Given the description of an element on the screen output the (x, y) to click on. 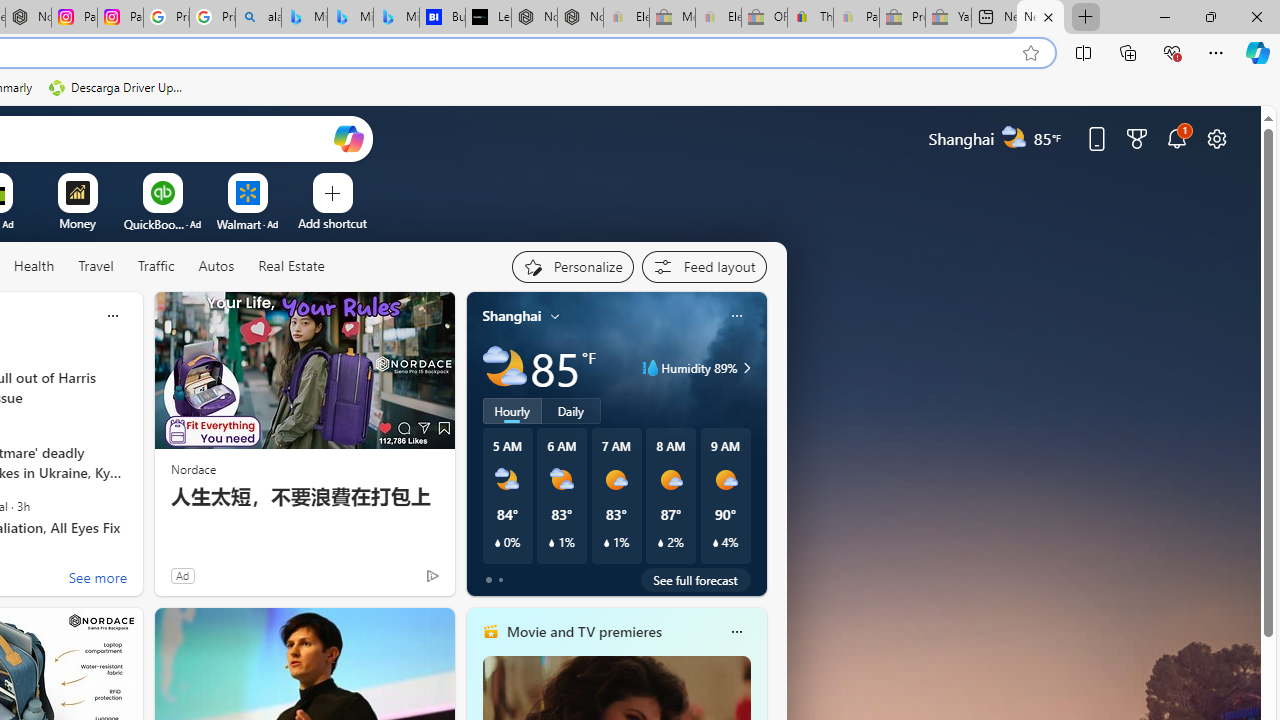
Class: icon-img (736, 632)
Feed settings (703, 266)
Autos (215, 265)
Add a site (332, 223)
Microsoft rewards (1137, 138)
Yard, Garden & Outdoor Living - Sleeping (948, 17)
Threats and offensive language policy | eBay (810, 17)
My location (555, 315)
